Given the description of an element on the screen output the (x, y) to click on. 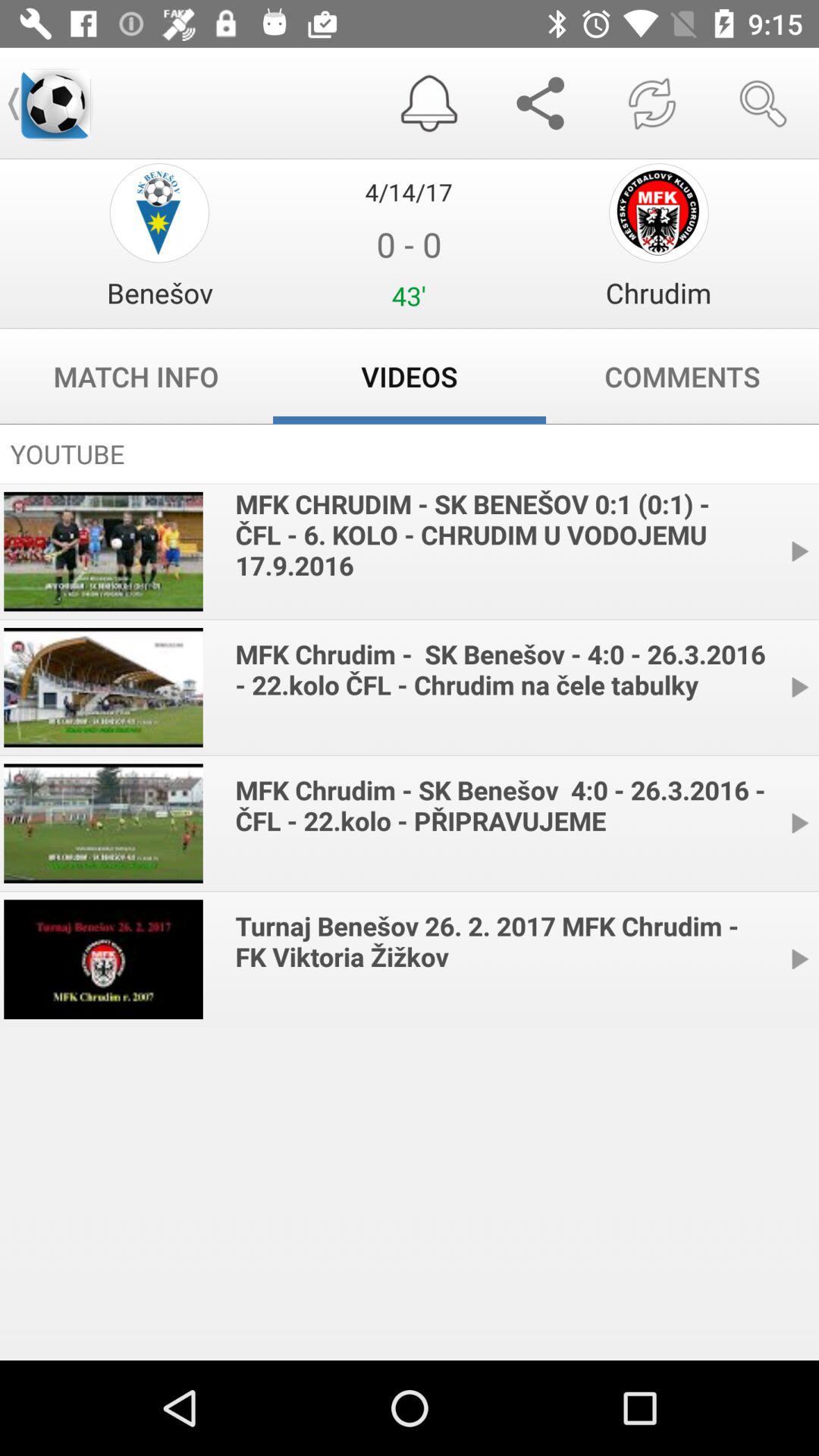
press item above the match info item (159, 292)
